Given the description of an element on the screen output the (x, y) to click on. 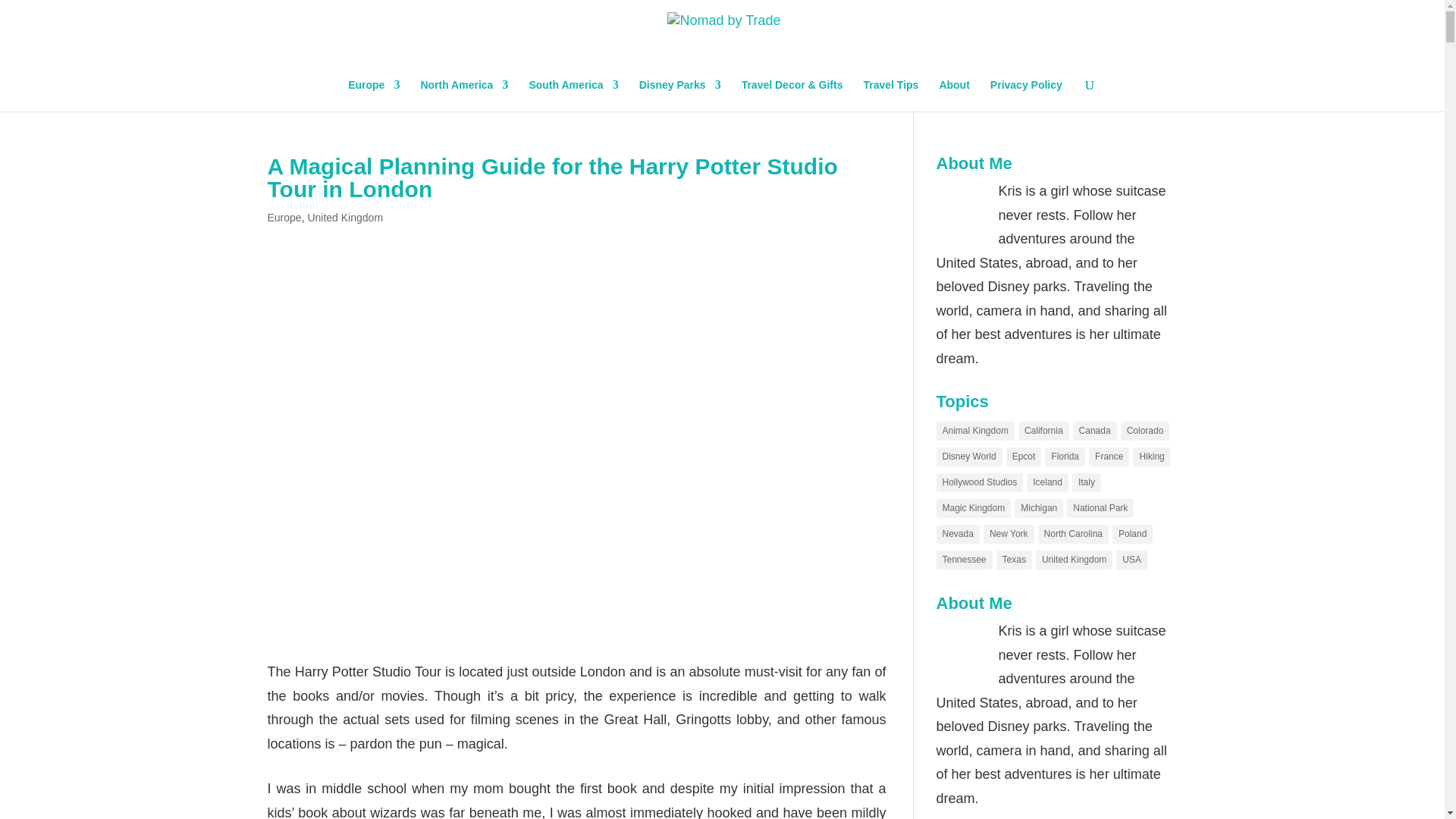
About (954, 95)
Travel Tips (890, 95)
Europe (372, 95)
South America (572, 95)
North America (464, 95)
United Kingdom (344, 217)
Privacy Policy (1026, 95)
Europe (283, 217)
Disney Parks (679, 95)
